Given the description of an element on the screen output the (x, y) to click on. 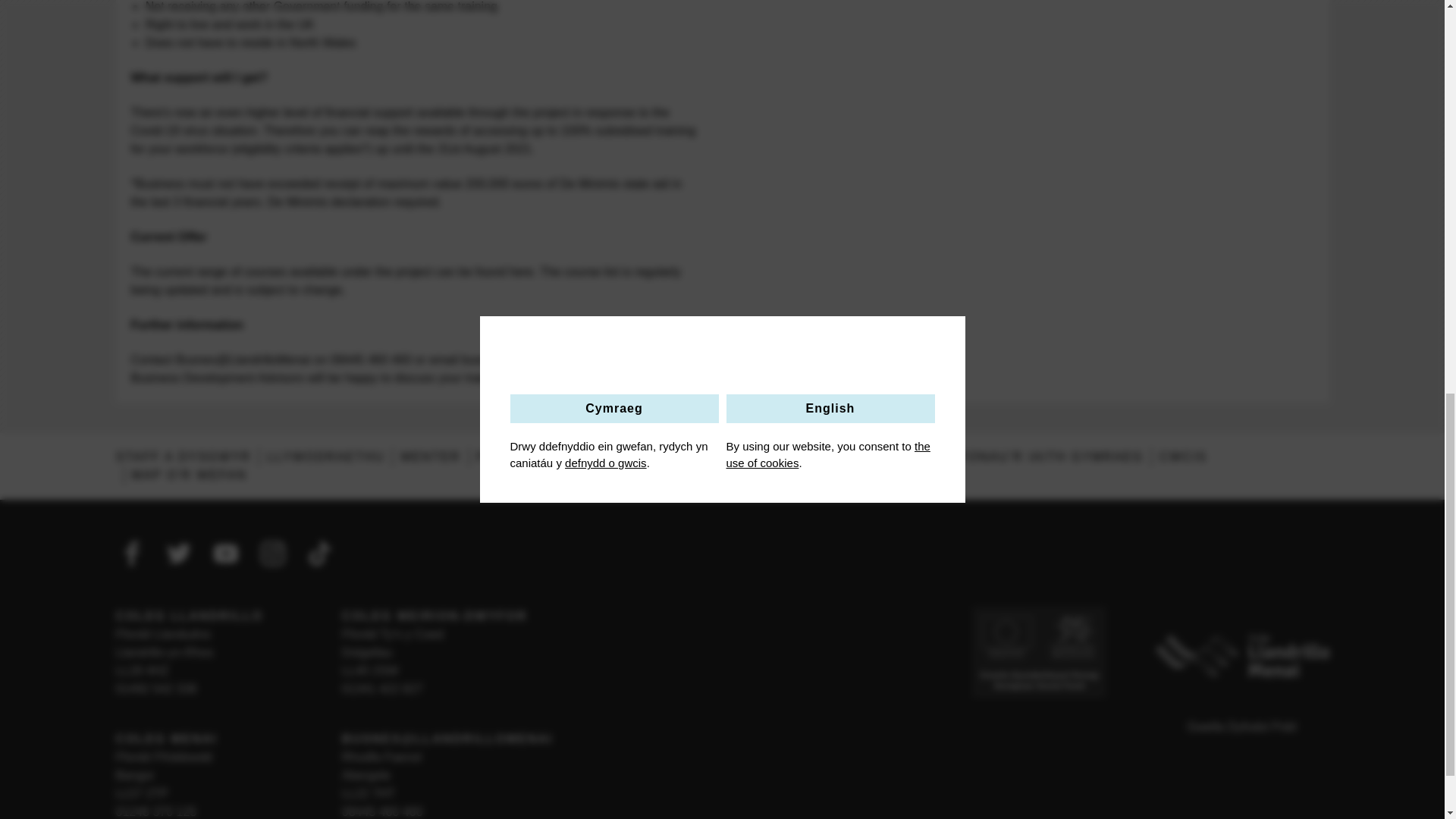
STAFF A DYSGWYR (182, 456)
MENTER (430, 456)
HYGYRCHEDD (874, 456)
LLYWODRAETHU (325, 456)
CWCIS (1182, 456)
PREIFATRWYDD (751, 456)
CYDRADDOLDEB (619, 456)
MAP O'R WEFAN (189, 474)
